Given the description of an element on the screen output the (x, y) to click on. 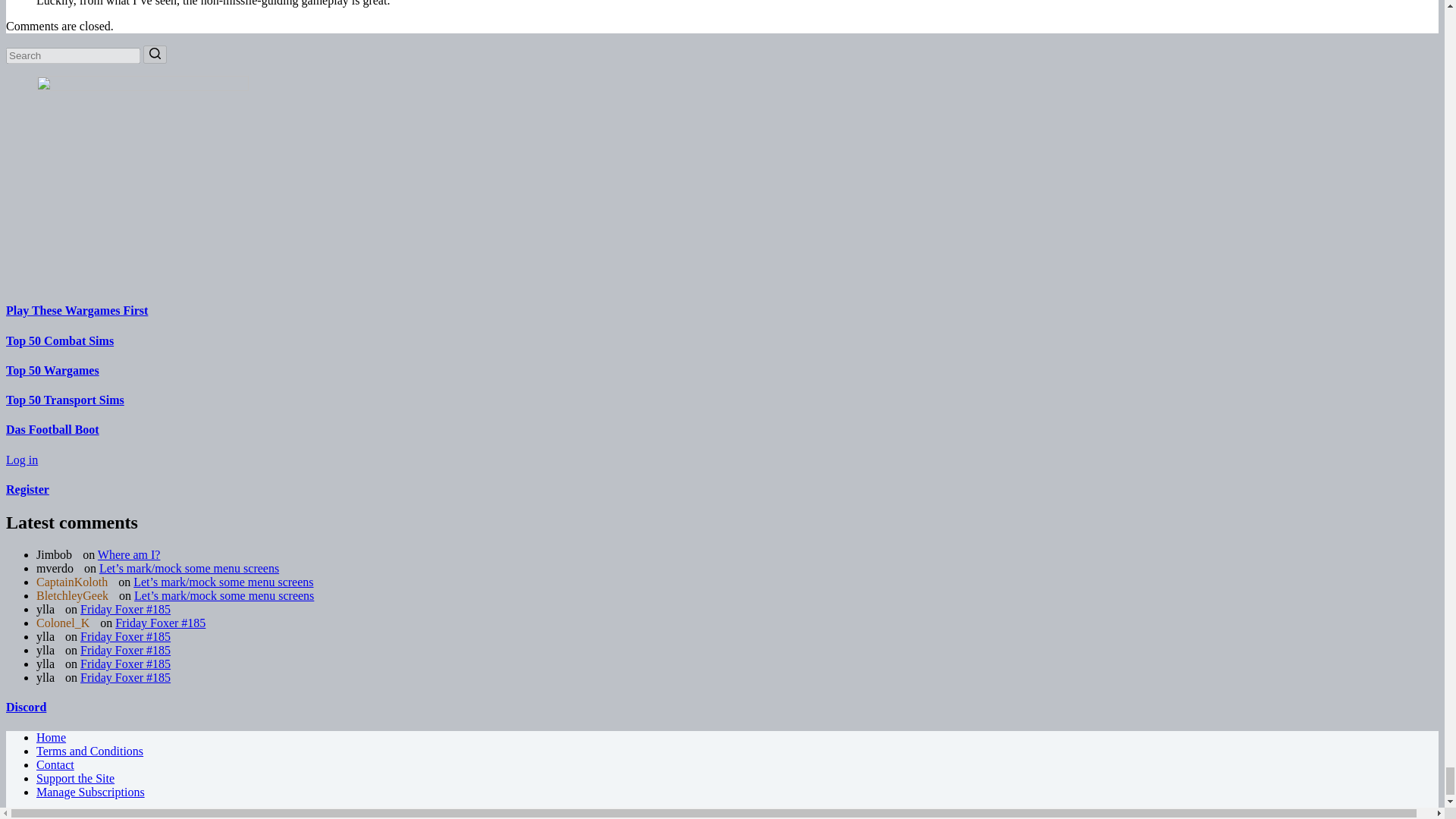
Search Input (72, 55)
